Given the description of an element on the screen output the (x, y) to click on. 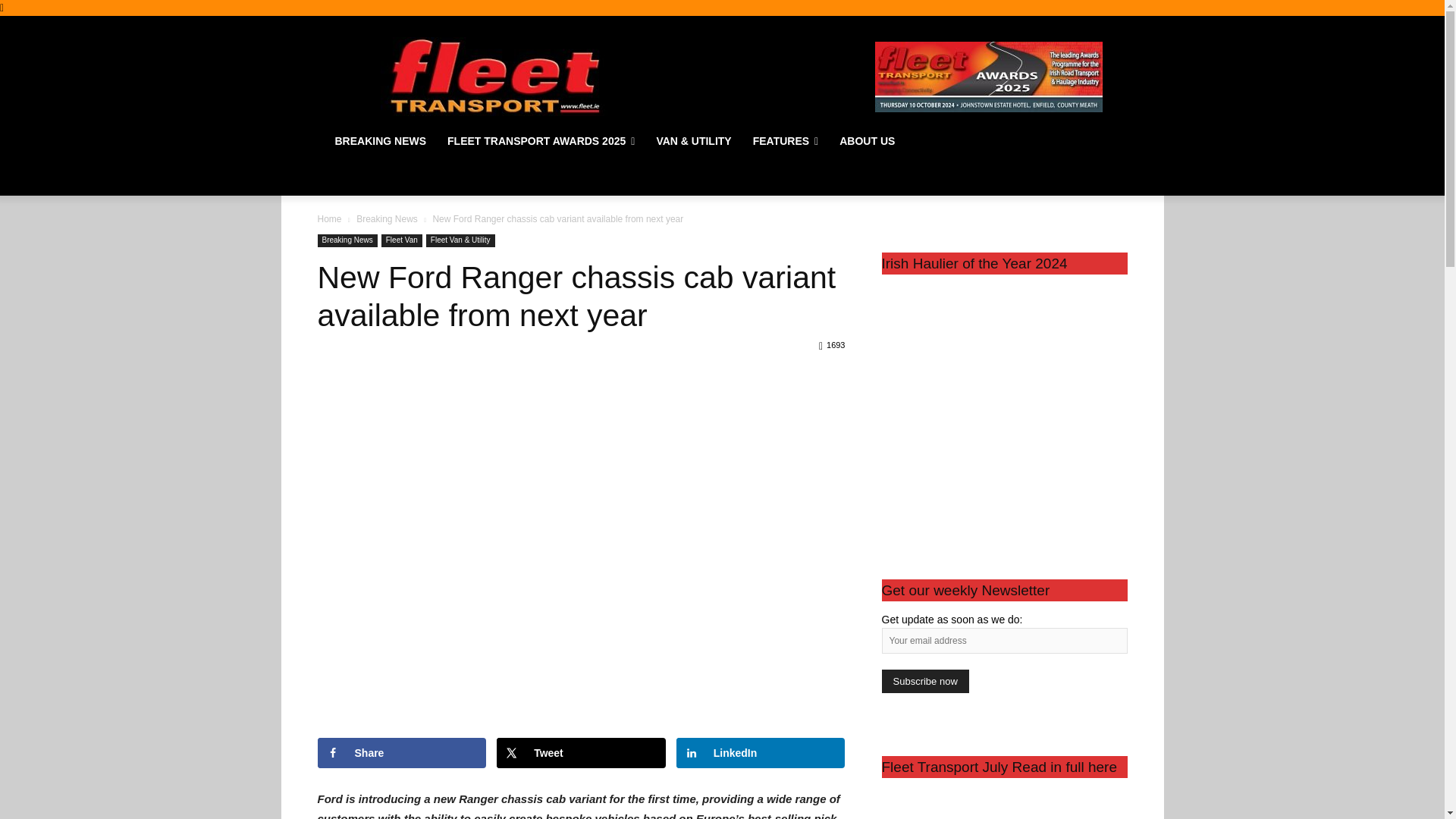
Fleet Transport (494, 76)
Subscribe now (924, 680)
Share on X (580, 752)
Fleet Awards 2025 Banner (988, 75)
Share on Facebook (401, 752)
BREAKING NEWS (381, 140)
View all posts in Breaking News (386, 218)
Share on LinkedIn (761, 752)
FLEET TRANSPORT AWARDS 2025 (540, 140)
